Given the description of an element on the screen output the (x, y) to click on. 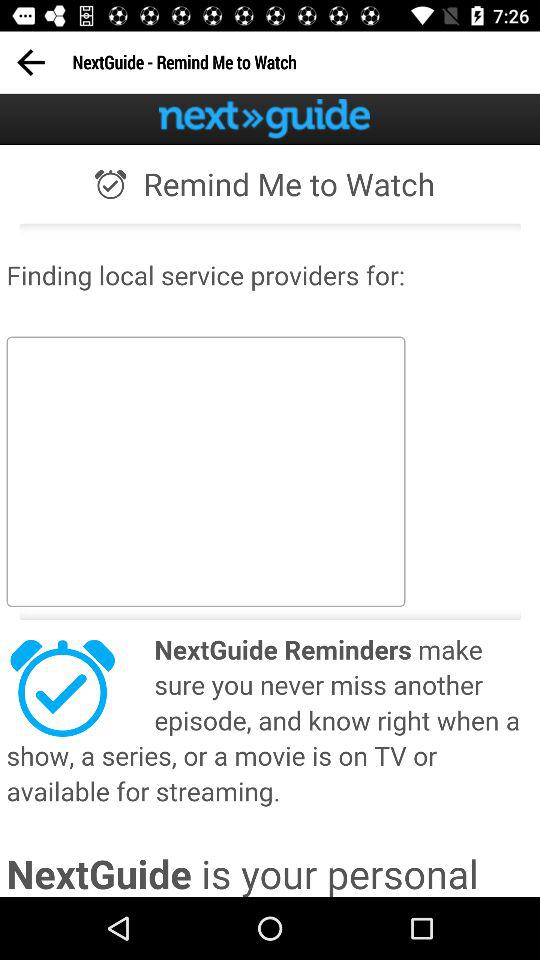
previous (30, 62)
